Given the description of an element on the screen output the (x, y) to click on. 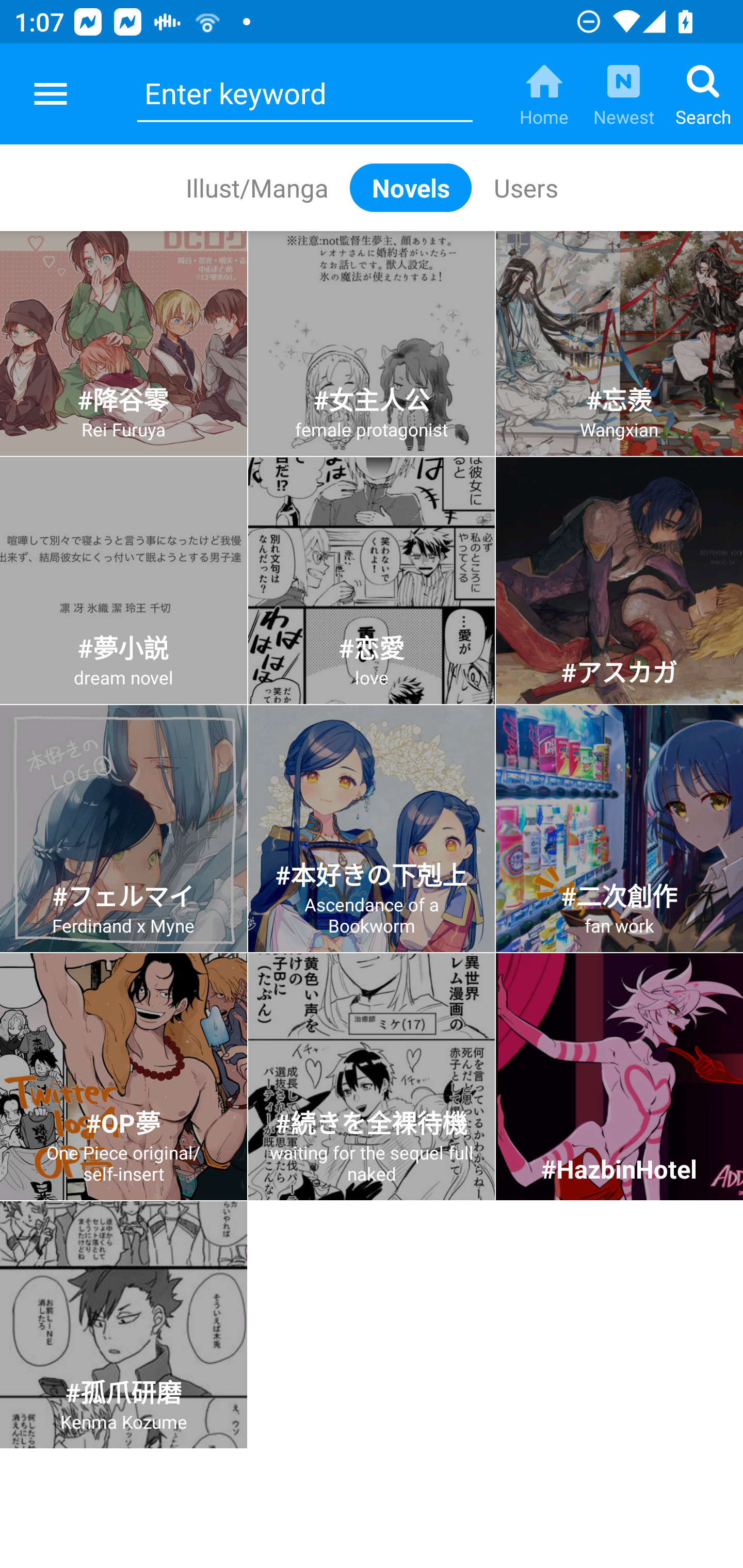
pixiv (50, 93)
Home (543, 93)
Newest (623, 93)
Enter keyword (304, 93)
Illust/Manga (256, 187)
Novels (410, 187)
Users (525, 187)
